Given the description of an element on the screen output the (x, y) to click on. 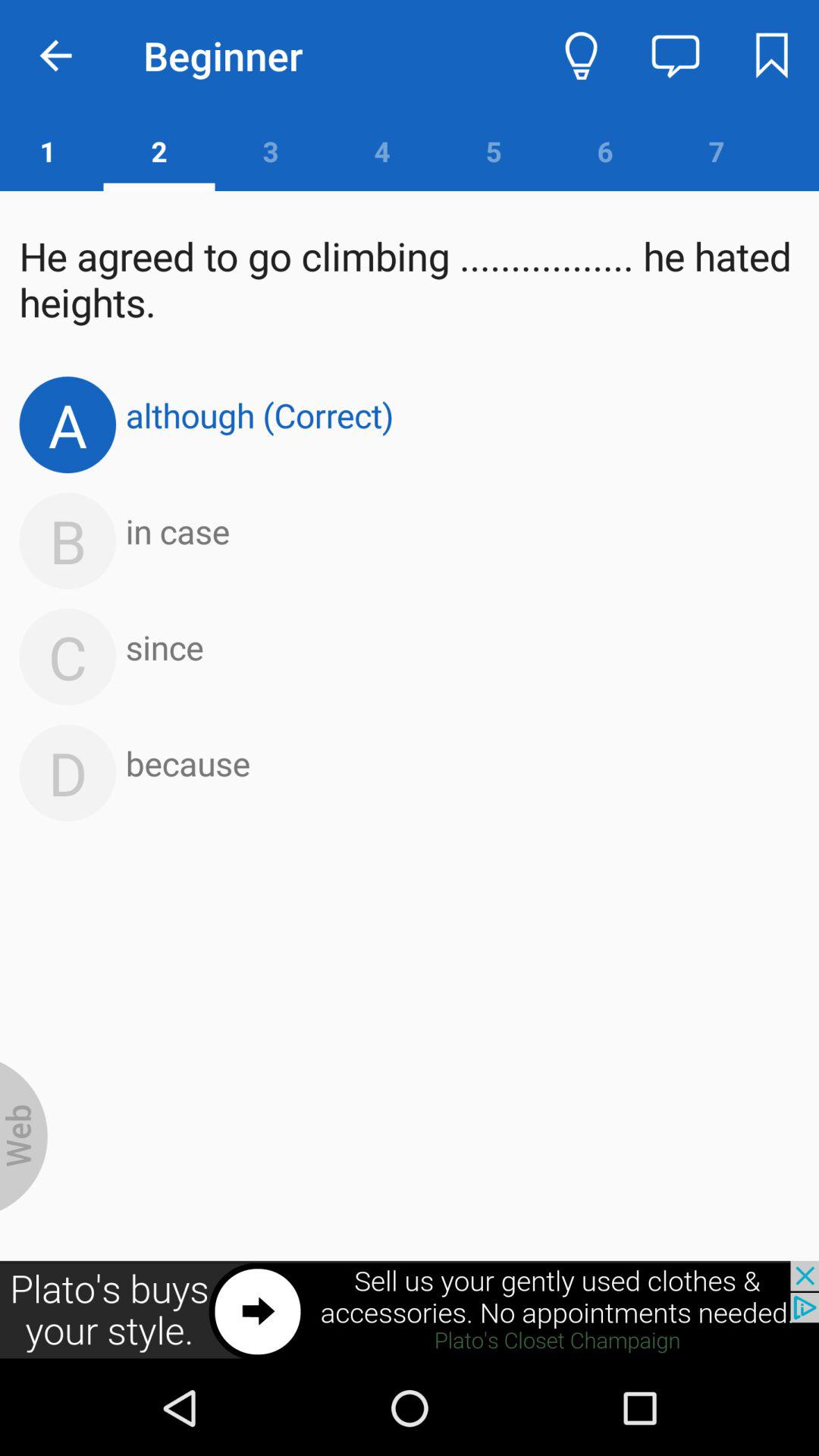
select the number 7 (716, 151)
select number 4 which is on top (382, 151)
click on the number 5 which is beside 4 (493, 151)
select the number 2 which is below beginner (159, 151)
select the message icon at the top of the page (675, 55)
